Given the description of an element on the screen output the (x, y) to click on. 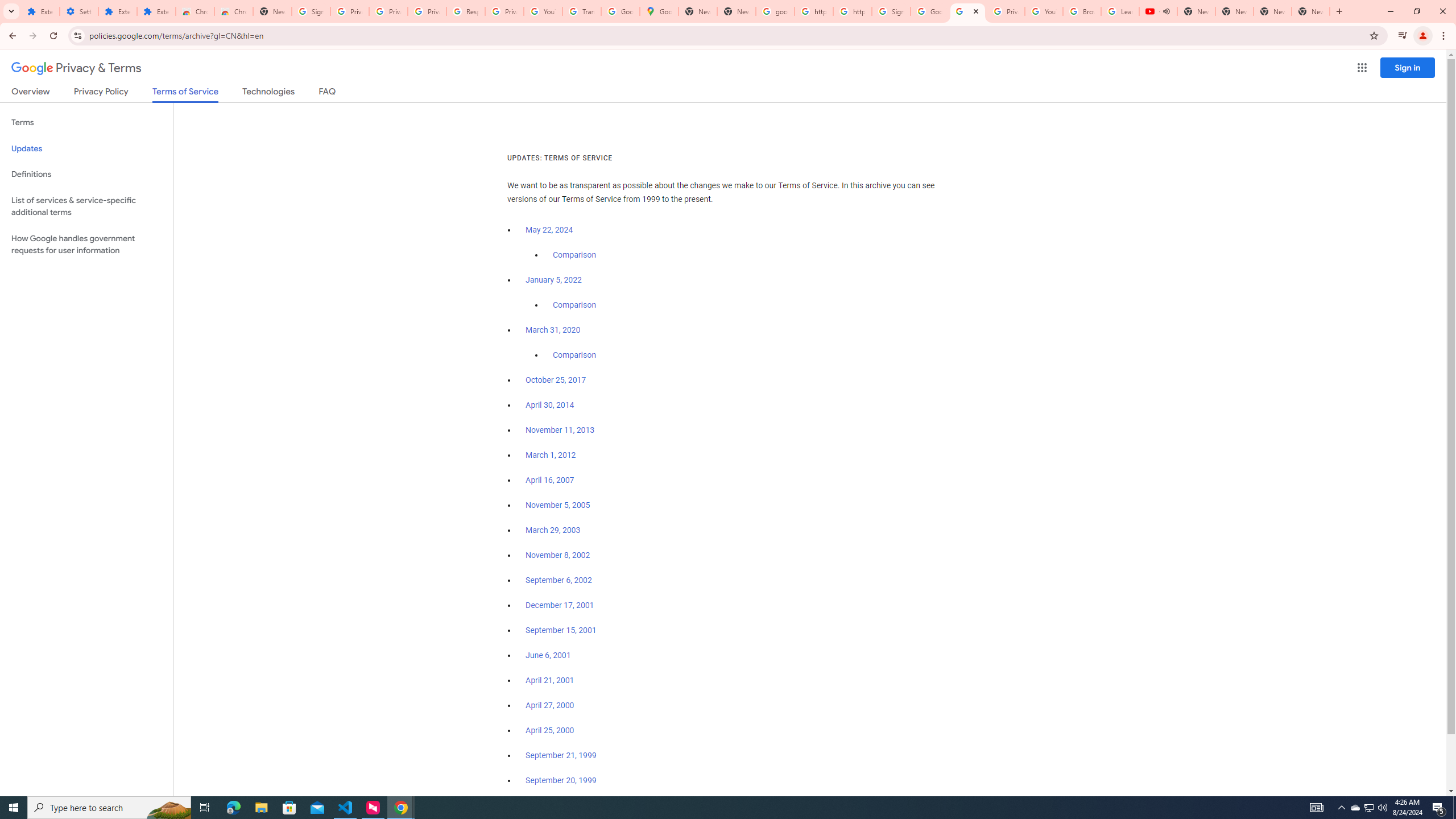
Chrome Web Store - Themes (233, 11)
Sign in - Google Accounts (890, 11)
Chrome Web Store (194, 11)
https://scholar.google.com/ (813, 11)
New Tab (1311, 11)
